Given the description of an element on the screen output the (x, y) to click on. 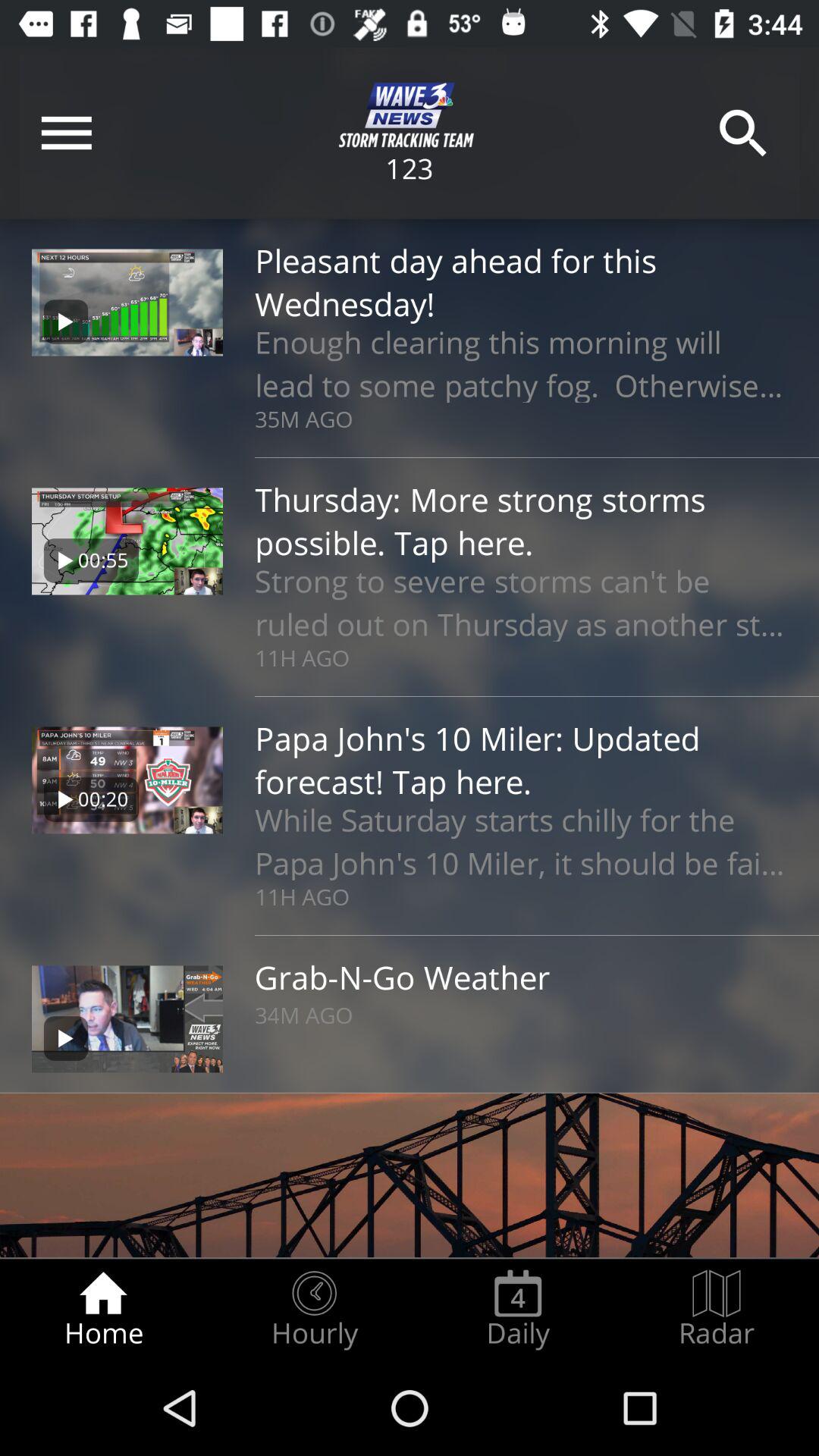
choose radio button next to daily (314, 1309)
